Given the description of an element on the screen output the (x, y) to click on. 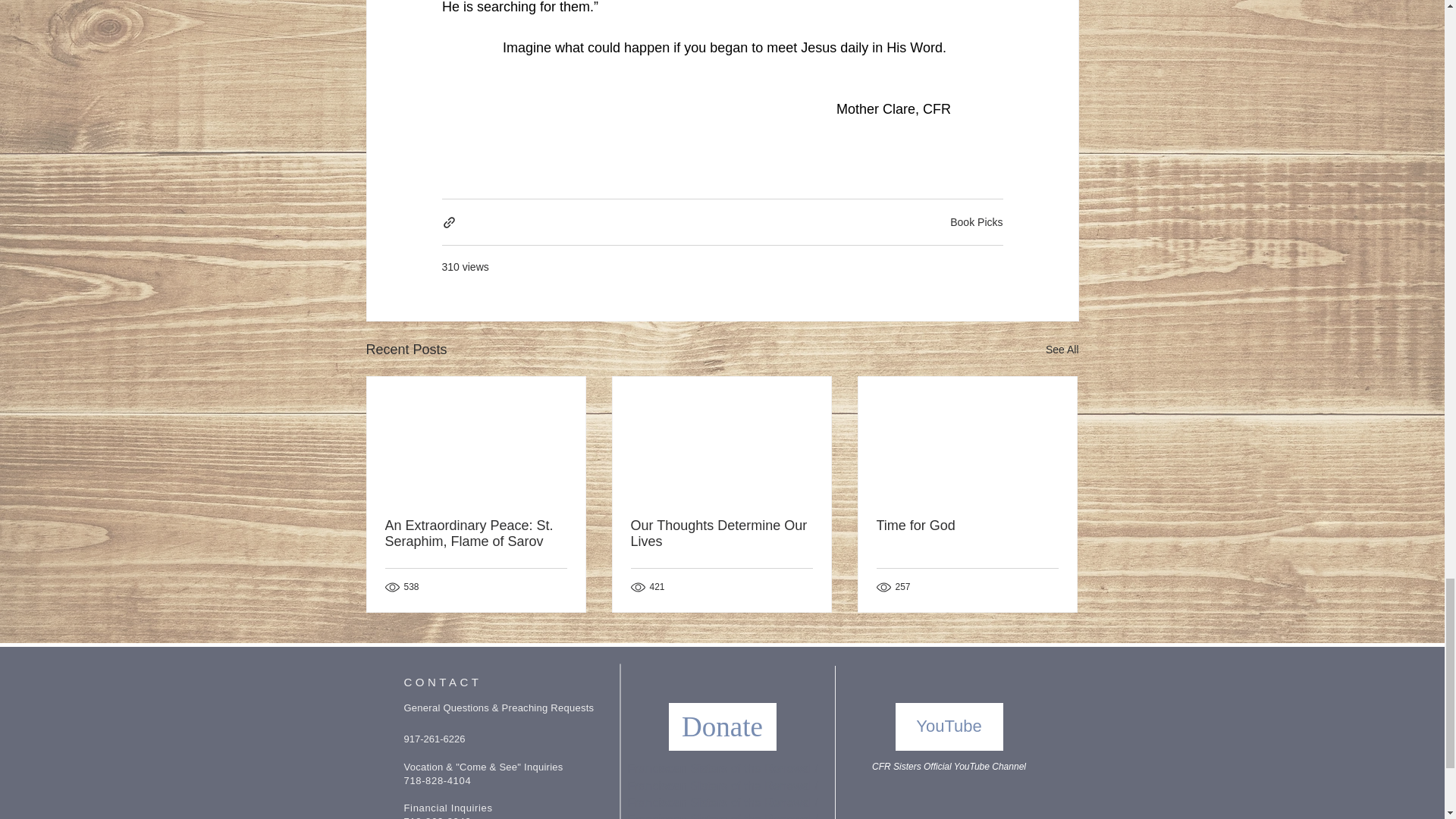
Time for God (967, 525)
An Extraordinary Peace: St. Seraphim, Flame of Sarov (476, 533)
YouTube (949, 726)
See All (1061, 350)
Book Picks (976, 222)
Donate (722, 726)
Our Thoughts Determine Our Lives (721, 533)
